Given the description of an element on the screen output the (x, y) to click on. 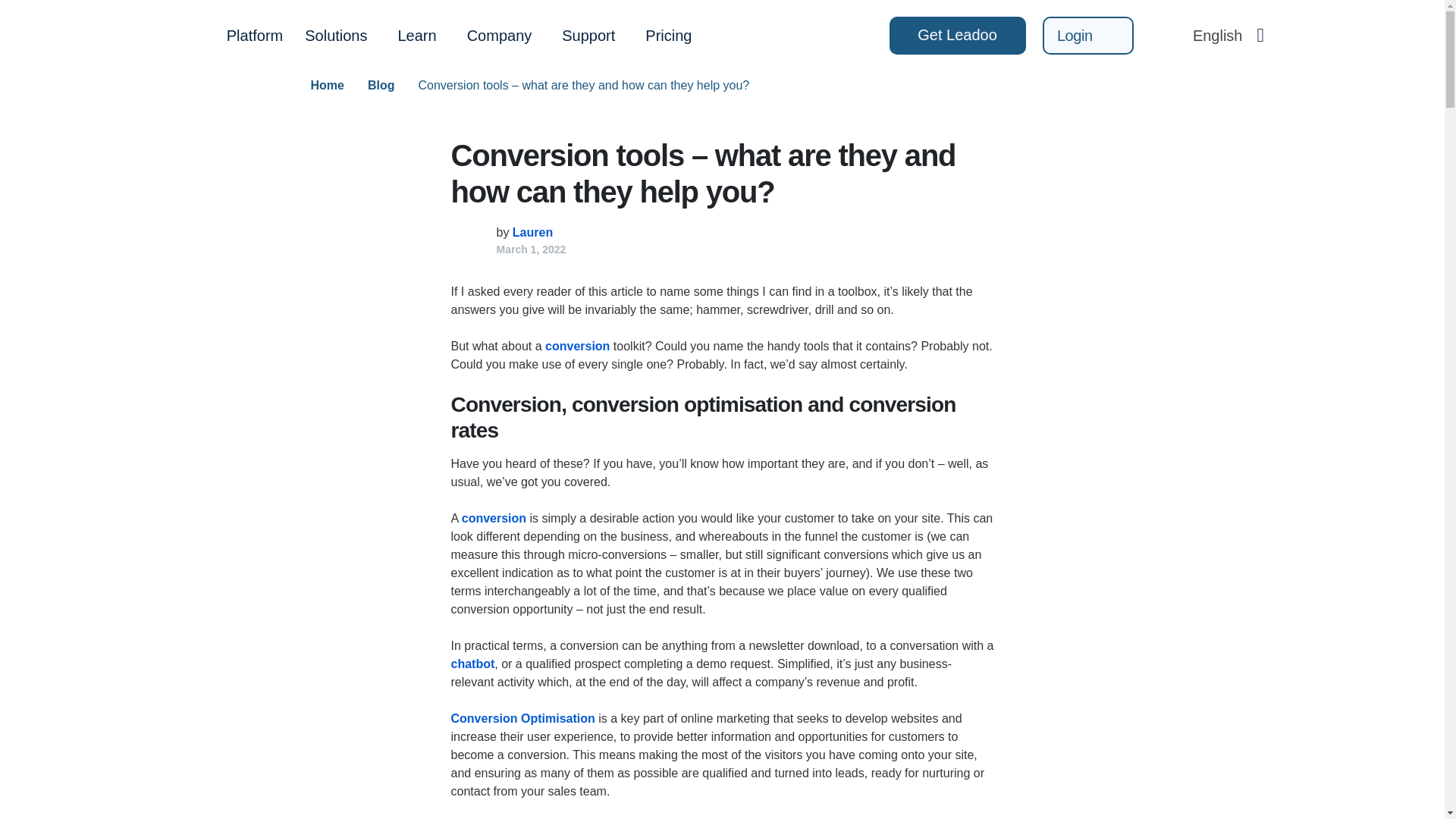
Learn (416, 35)
Solutions (333, 35)
Platform (254, 35)
Company (499, 35)
Platform (254, 35)
Learn (416, 35)
Solutions (333, 35)
